Given the description of an element on the screen output the (x, y) to click on. 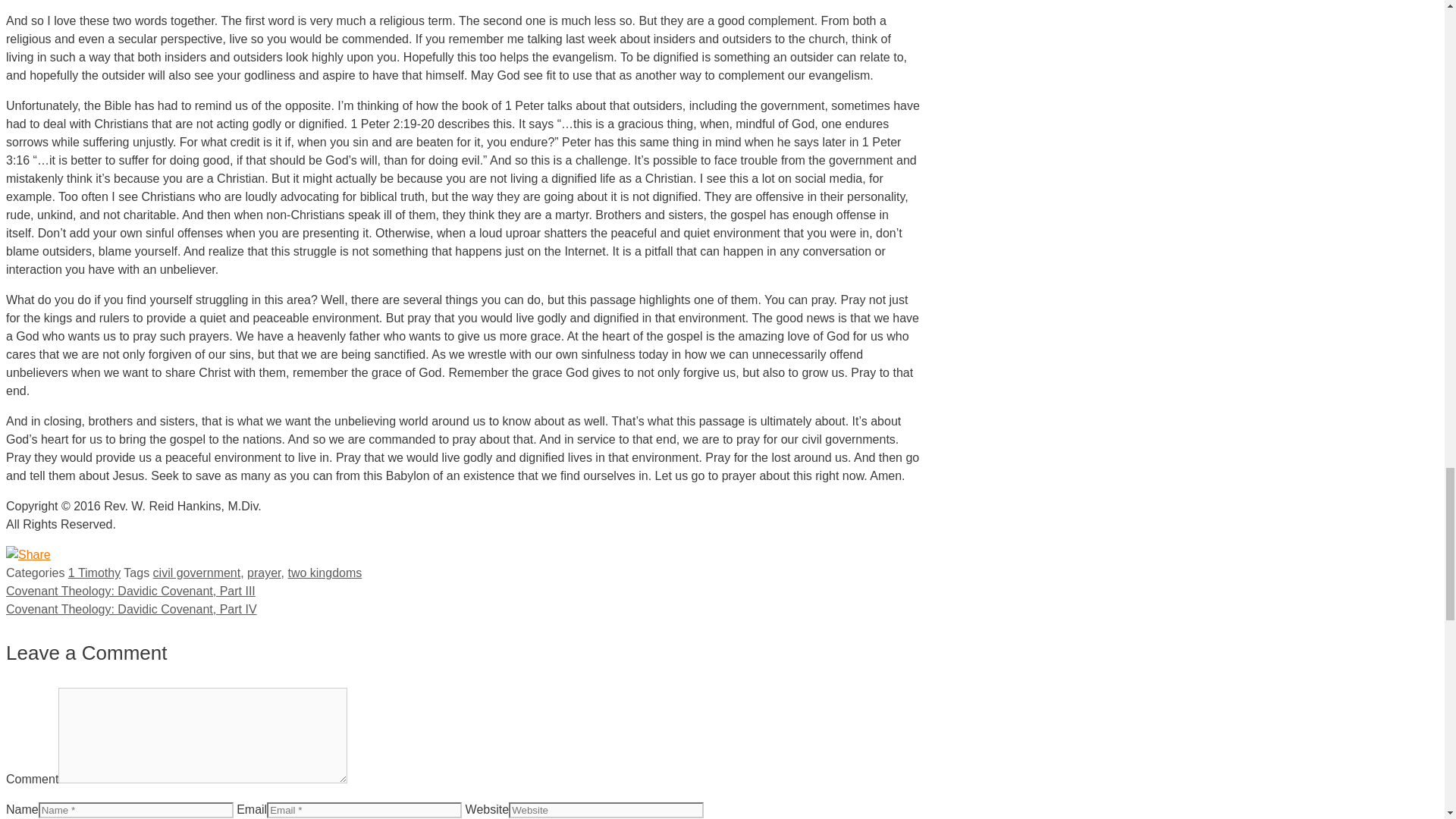
two kingdoms (323, 572)
civil government (196, 572)
1 Timothy (94, 572)
Covenant Theology: Davidic Covenant, Part IV (131, 608)
Covenant Theology: Davidic Covenant, Part III (130, 590)
prayer (264, 572)
